Given the description of an element on the screen output the (x, y) to click on. 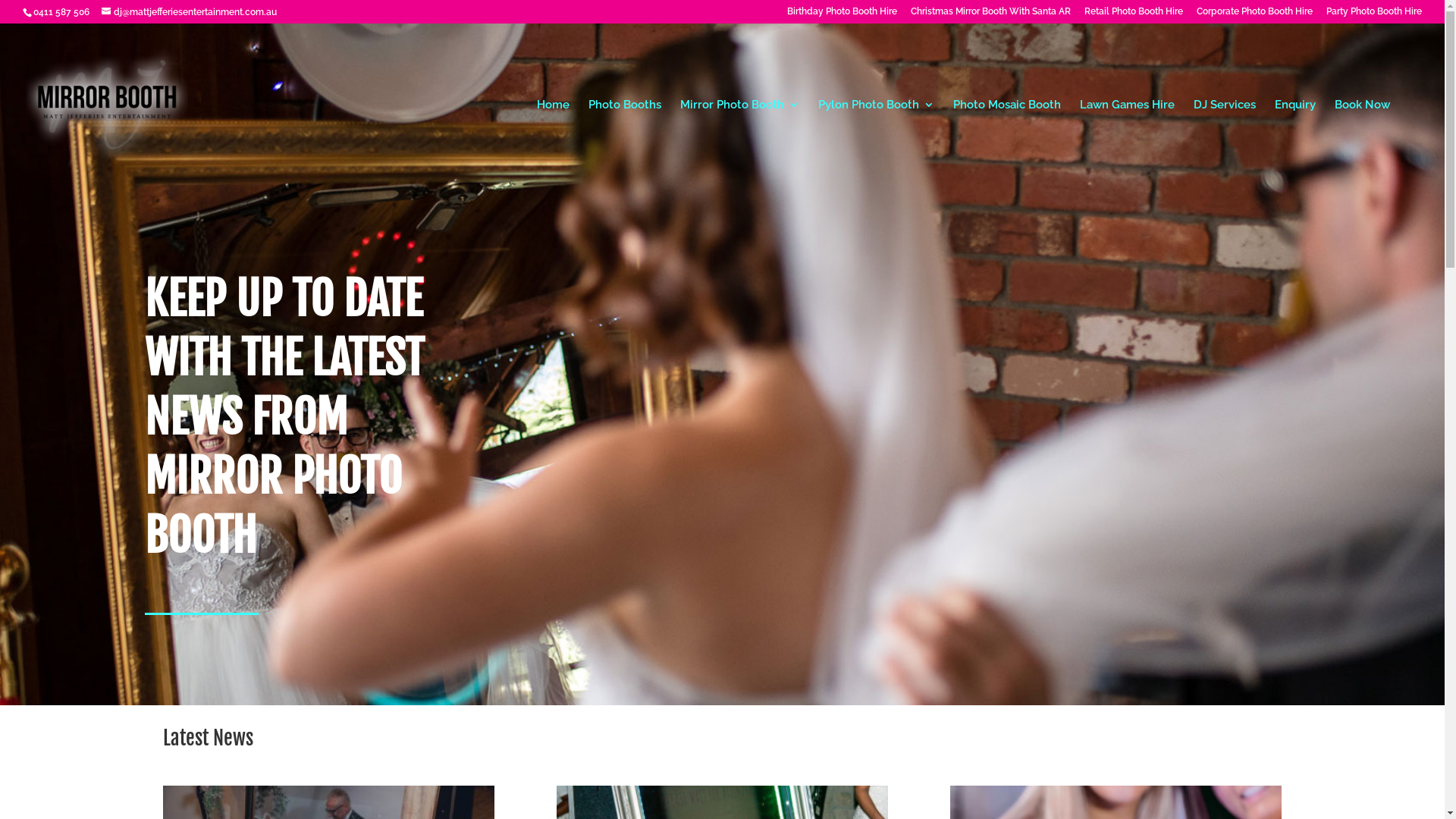
Home Element type: text (552, 142)
Christmas Mirror Booth With Santa AR Element type: text (990, 14)
Party Photo Booth Hire Element type: text (1373, 14)
Lawn Games Hire Element type: text (1126, 142)
Photo Booths Element type: text (624, 142)
Birthday Photo Booth Hire Element type: text (842, 14)
Retail Photo Booth Hire Element type: text (1133, 14)
Pylon Photo Booth Element type: text (876, 142)
Book Now Element type: text (1362, 142)
dj@mattjefferiesentertainment.com.au Element type: text (188, 11)
0411 587 506 Element type: text (60, 11)
Photo Mosaic Booth Element type: text (1006, 142)
DJ Services Element type: text (1224, 142)
Enquiry Element type: text (1294, 142)
Corporate Photo Booth Hire Element type: text (1254, 14)
Mirror Photo Booth Element type: text (739, 142)
